Given the description of an element on the screen output the (x, y) to click on. 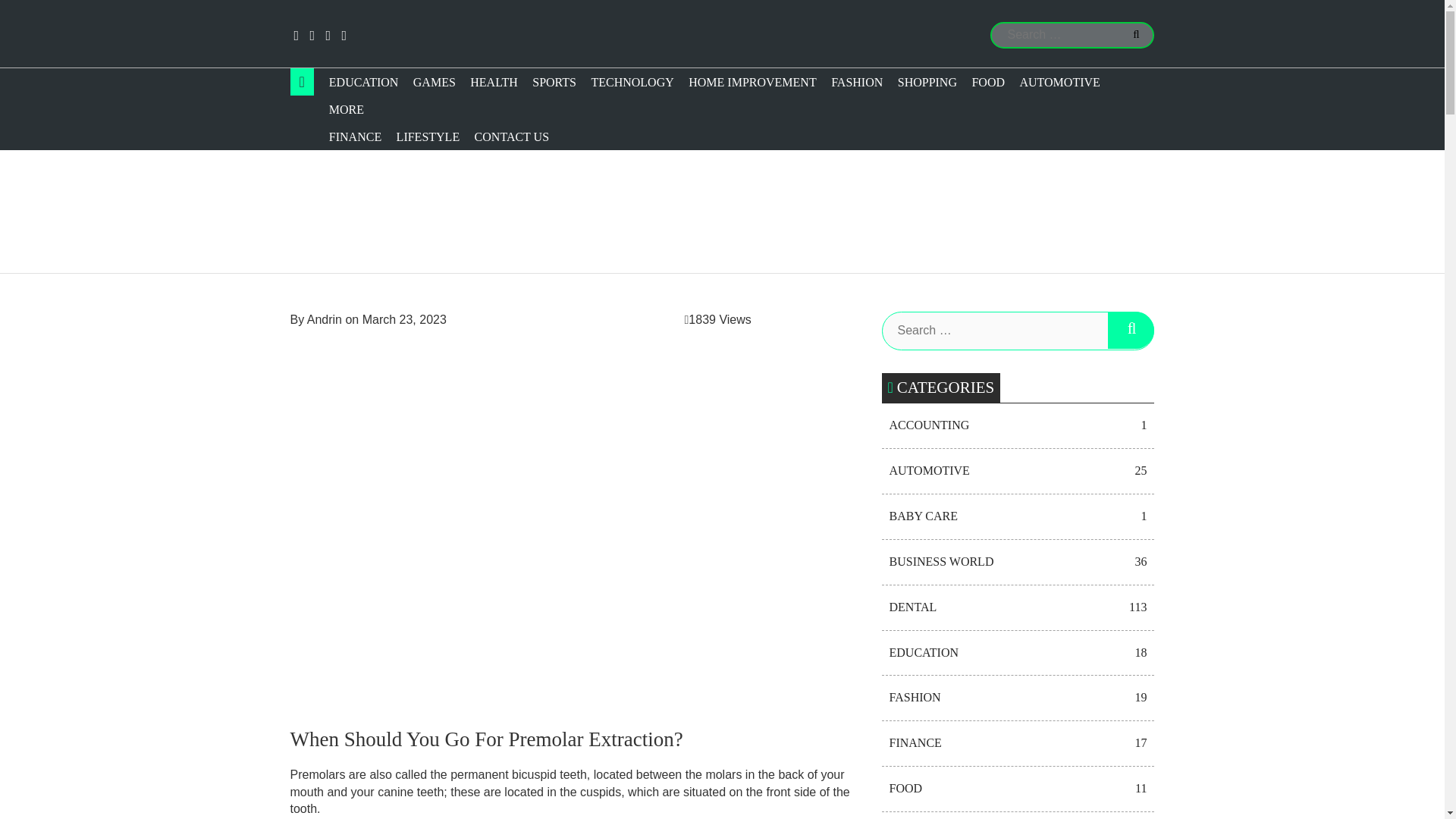
FINANCE (352, 135)
HOME IMPROVEMENT (748, 81)
TECHNOLOGY (627, 81)
MORE (390, 108)
SHOPPING (923, 81)
FASHION (853, 81)
HEALTH (490, 81)
LIFESTYLE (425, 135)
CONTACT US (508, 135)
FOOD (984, 81)
GAMES (431, 81)
AUTOMOTIVE (1056, 81)
EDUCATION (360, 81)
SPORTS (550, 81)
